Given the description of an element on the screen output the (x, y) to click on. 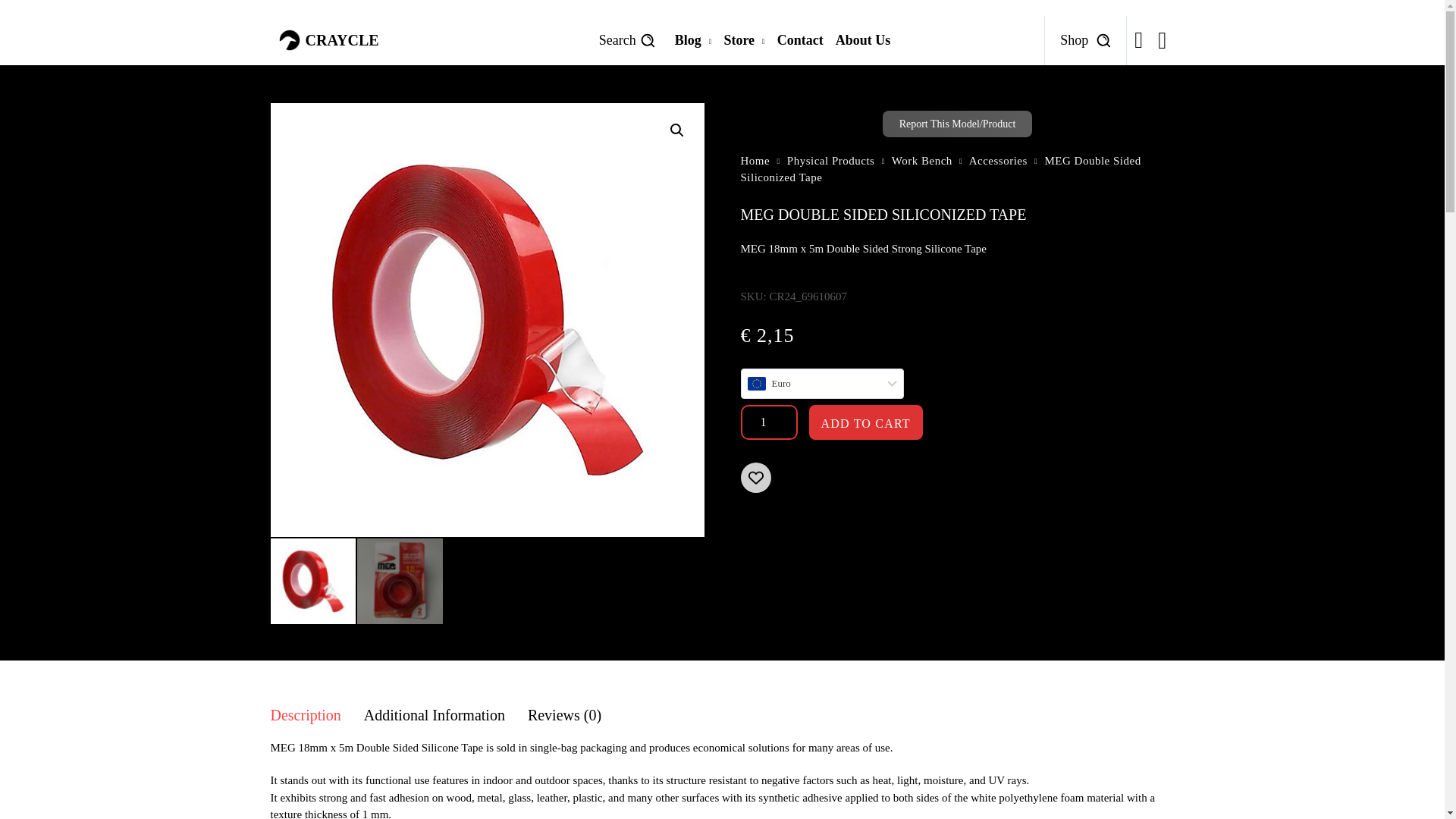
3D Printed RC Planes (328, 39)
1 (767, 422)
3D Printed RC Planes (288, 39)
